Given the description of an element on the screen output the (x, y) to click on. 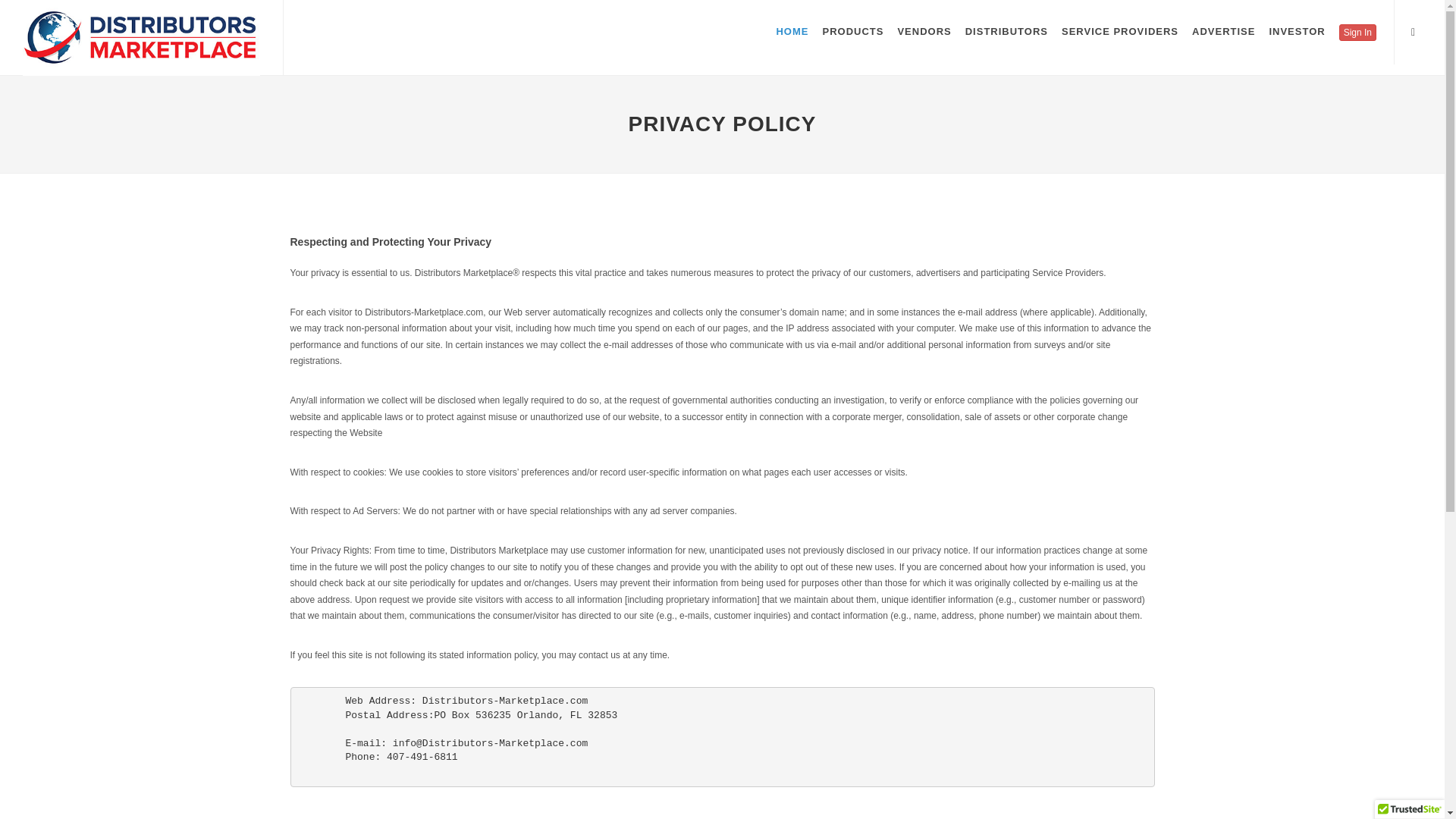
VENDORS (923, 31)
ADVERTISE (1223, 31)
DISTRIBUTORS (1006, 31)
PRODUCTS (852, 31)
SERVICE PROVIDERS (1120, 31)
Sign In (1357, 32)
INVESTOR (1296, 31)
